Given the description of an element on the screen output the (x, y) to click on. 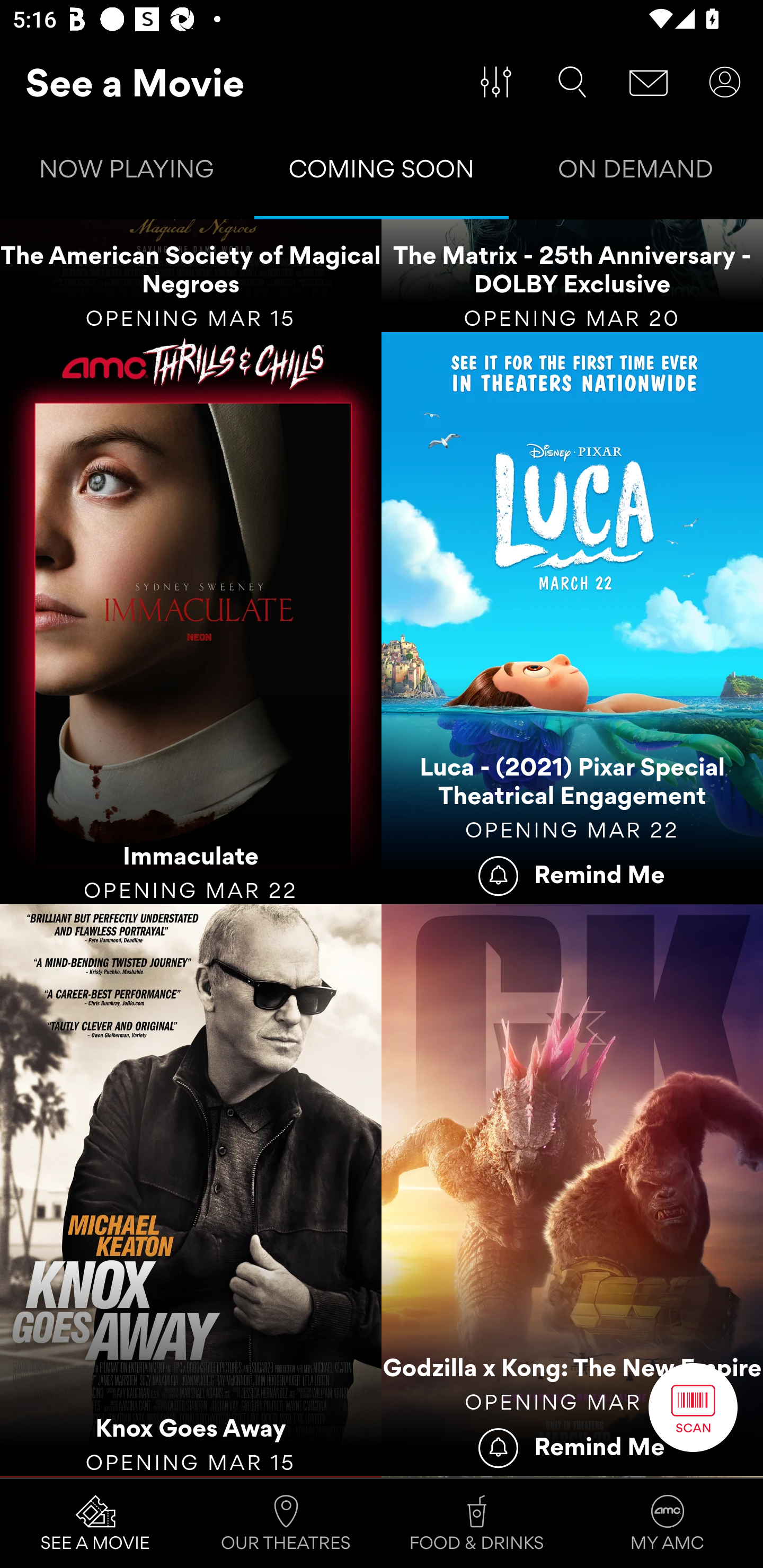
Filter Movies (495, 82)
Search (572, 82)
Message Center (648, 82)
User Account (724, 82)
NOW PLAYING
Tab 1 of 3 (127, 173)
COMING SOON
Tab 2 of 3 (381, 173)
ON DEMAND
Tab 3 of 3 (635, 173)
Immaculate
OPENING MAR 22 (190, 618)
Remind Me (572, 873)
Knox Goes Away
OPENING MAR 15 (190, 1190)
Scan Button (692, 1406)
Remind Me (572, 1445)
Wicked Little Letters
OPENING MAR 29 (190, 1477)
OUR THEATRES
Tab 2 of 4 (285, 1523)
FOOD & DRINKS
Tab 3 of 4 (476, 1523)
MY AMC
Tab 4 of 4 (667, 1523)
